Given the description of an element on the screen output the (x, y) to click on. 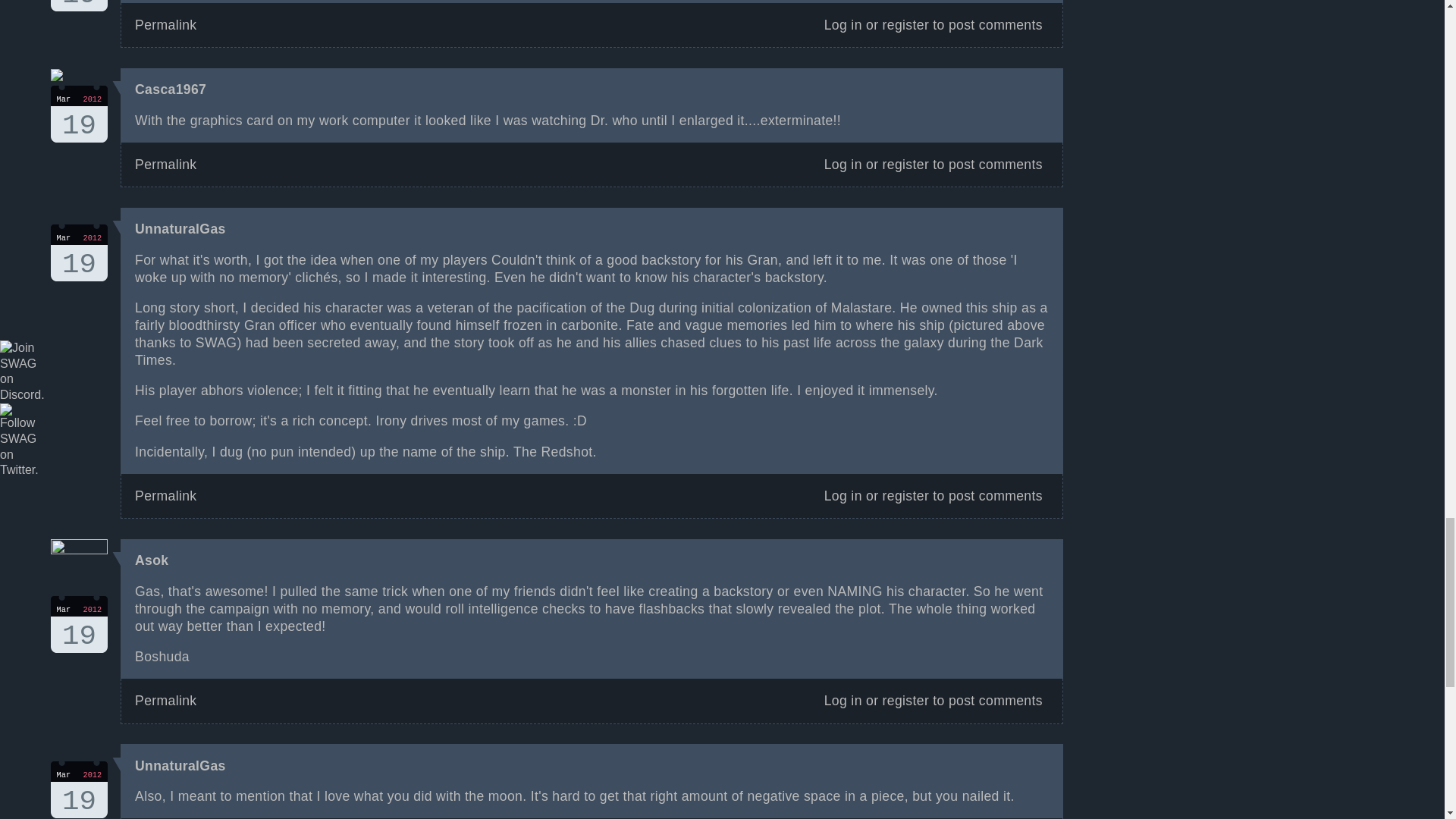
View user profile. (180, 228)
View user profile. (78, 624)
Log in (180, 765)
register (842, 24)
View user profile. (905, 24)
View user profile. (78, 5)
Permalink (78, 789)
Permalink (170, 89)
